Given the description of an element on the screen output the (x, y) to click on. 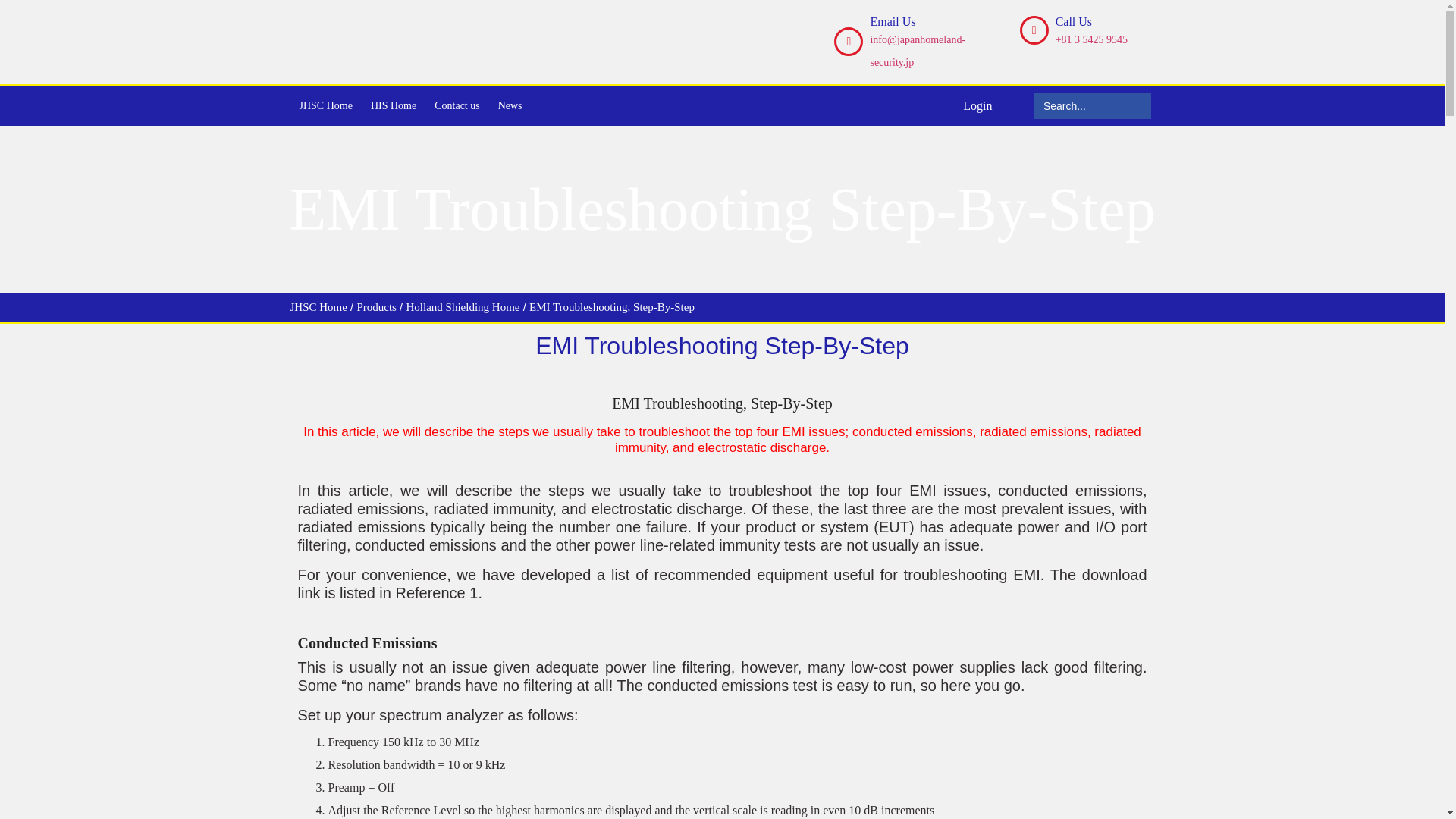
News (510, 106)
JHSC Home (317, 306)
HIS Home (393, 106)
Email Us (892, 21)
Holland Shielding Home (462, 306)
JHSC Home (325, 106)
Login (976, 105)
Call Us (1073, 21)
Contact us (457, 106)
Products (376, 306)
